Given the description of an element on the screen output the (x, y) to click on. 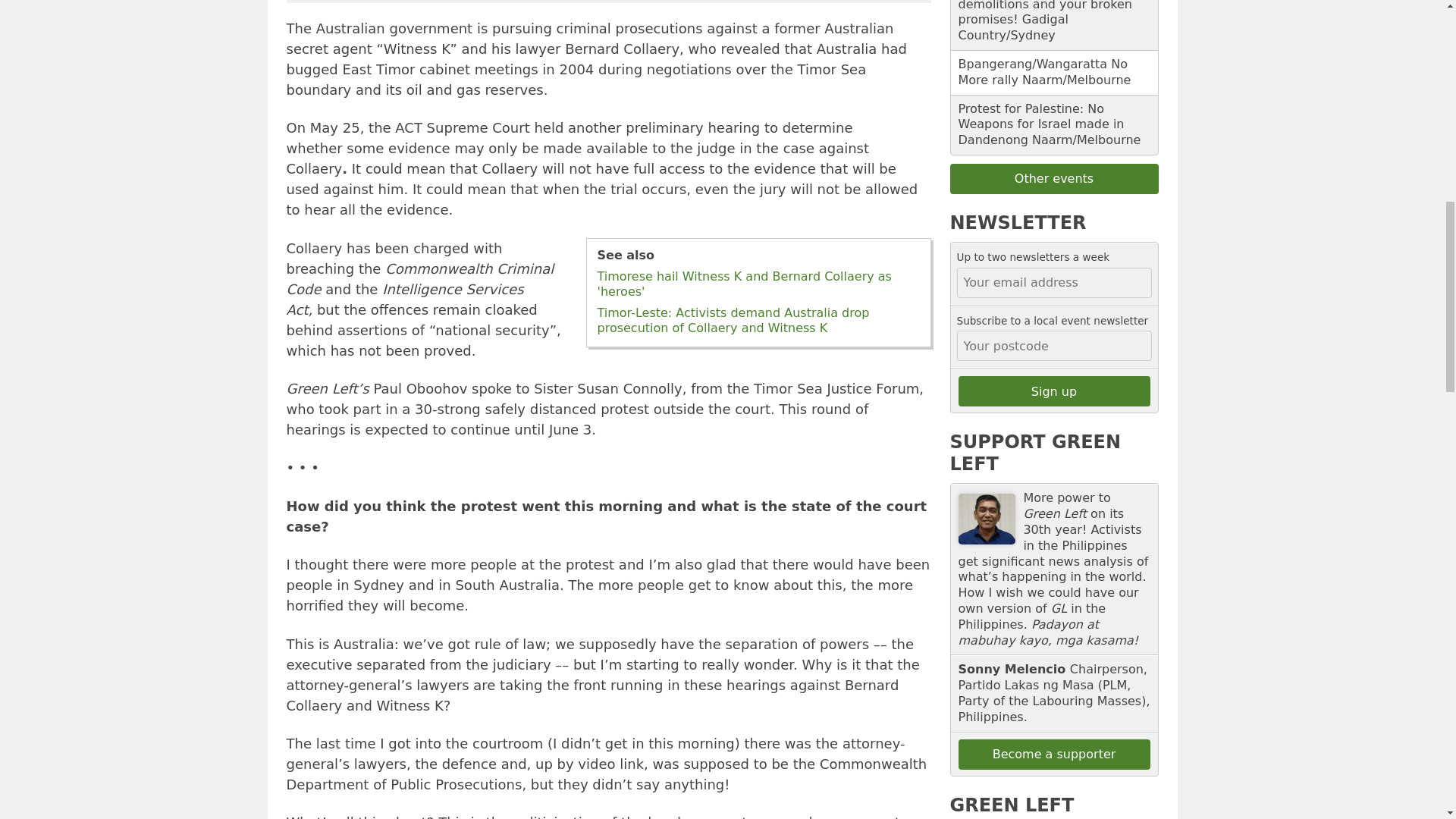
Sign up (1054, 390)
